Given the description of an element on the screen output the (x, y) to click on. 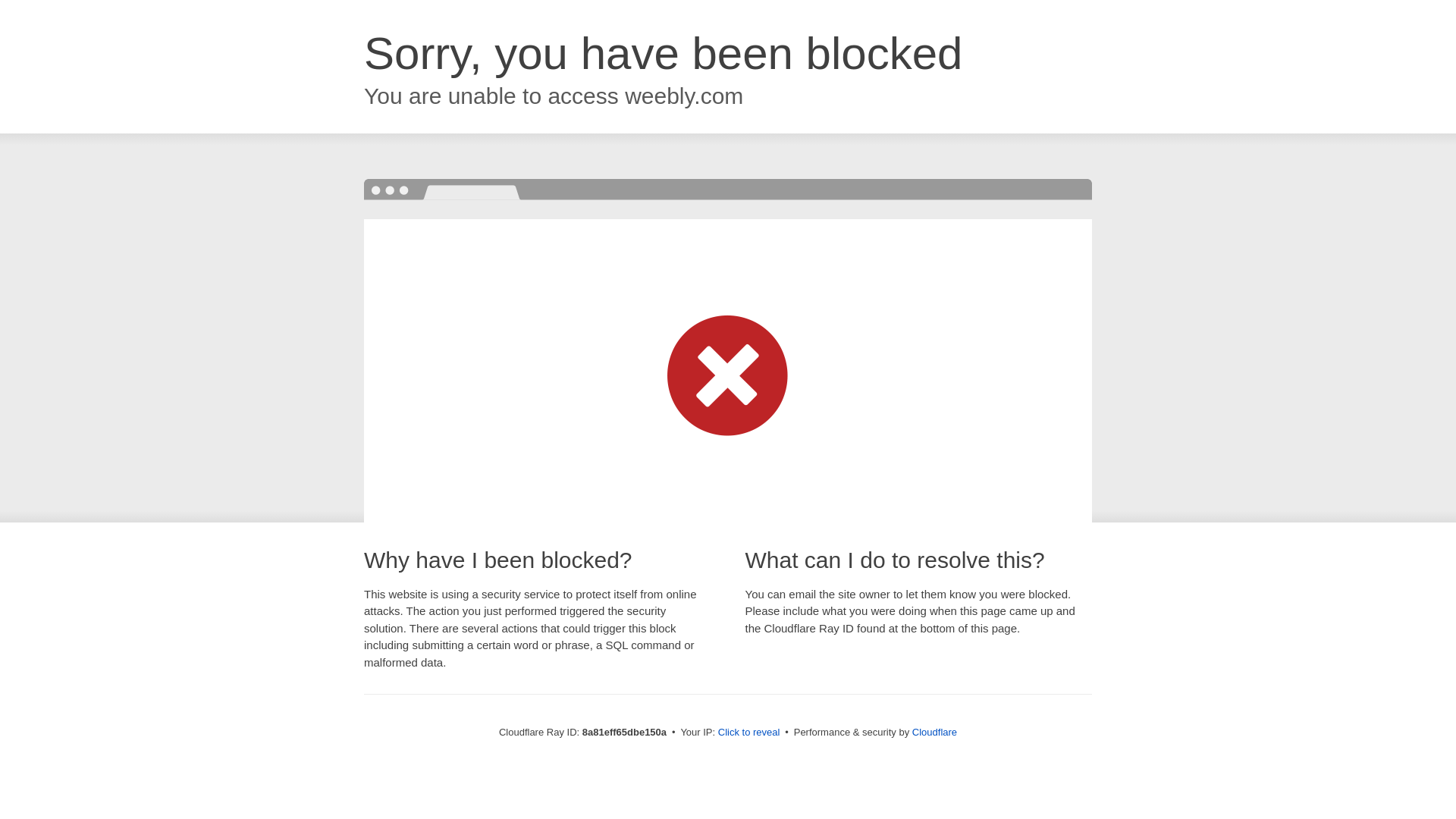
Click to reveal (748, 732)
Cloudflare (934, 731)
